Given the description of an element on the screen output the (x, y) to click on. 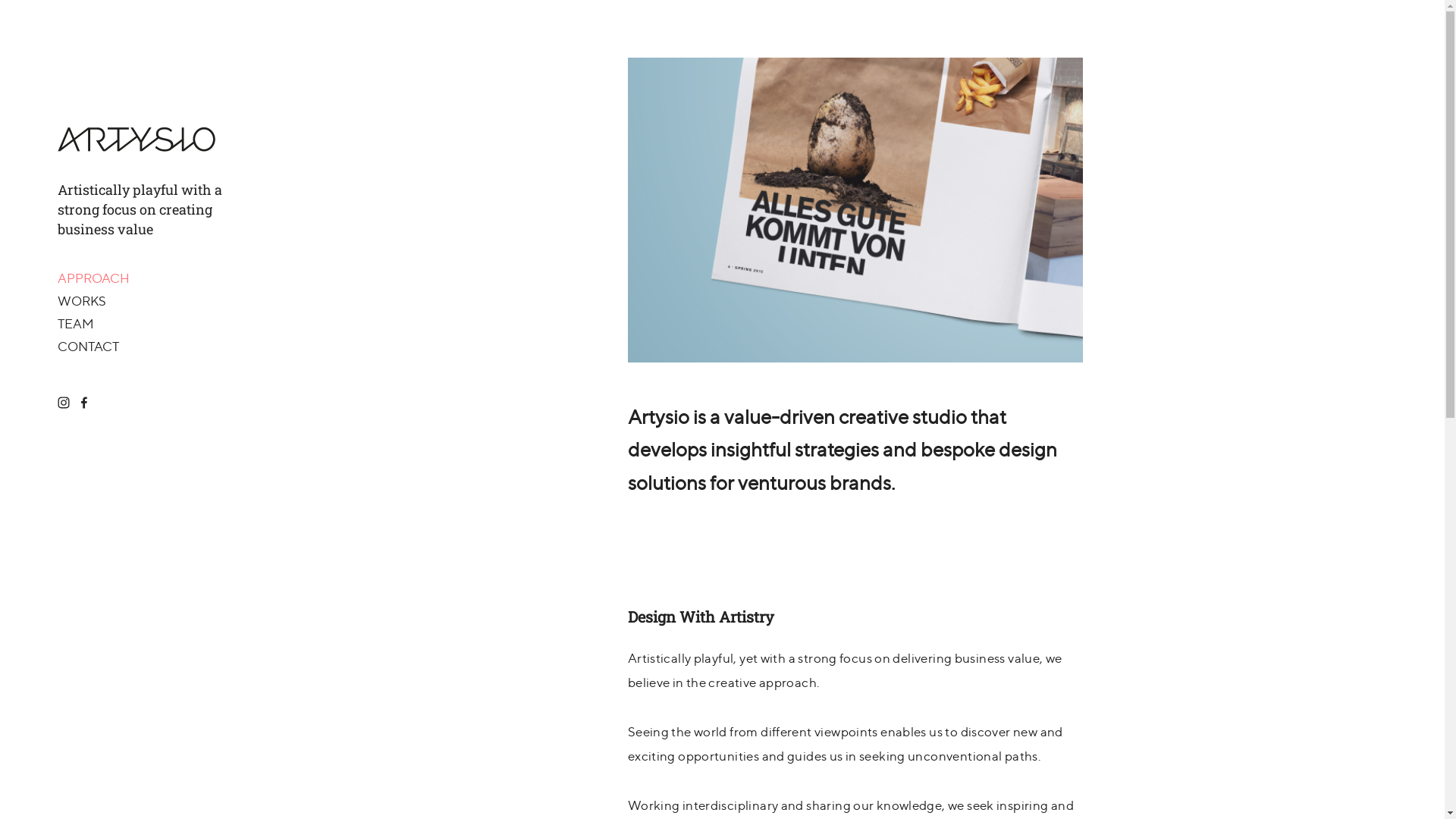
APPROACH Element type: text (93, 277)
CONTACT Element type: text (88, 346)
WORKS Element type: text (81, 300)
TEAM Element type: text (75, 323)
Facebook Element type: text (84, 402)
JJJ_07_NEW Element type: hover (854, 209)
Instagram Element type: text (63, 402)
